Given the description of an element on the screen output the (x, y) to click on. 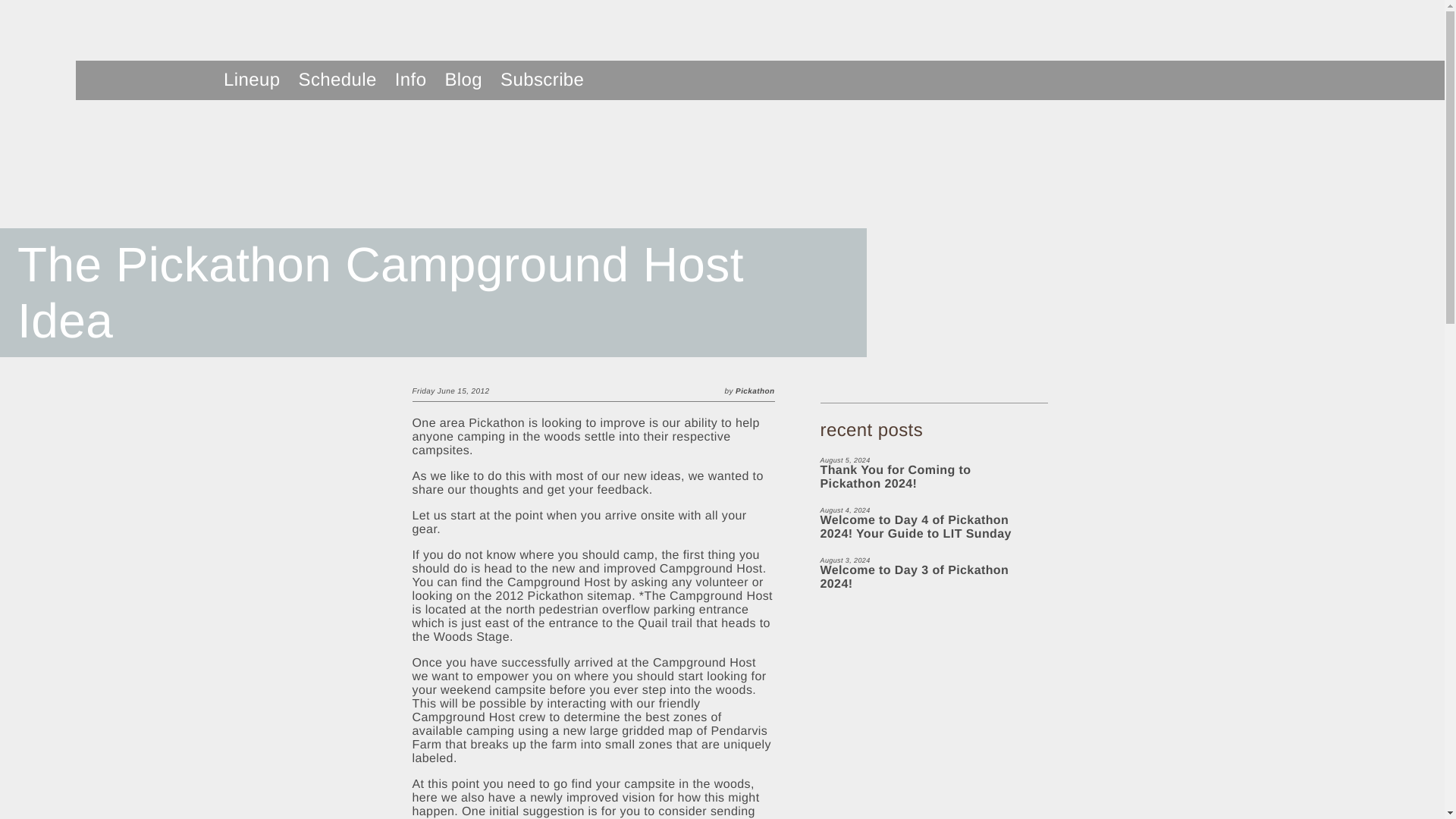
Blog (463, 79)
Schedule (336, 79)
Subscribe (926, 573)
Info (542, 79)
Lineup (410, 79)
